Given the description of an element on the screen output the (x, y) to click on. 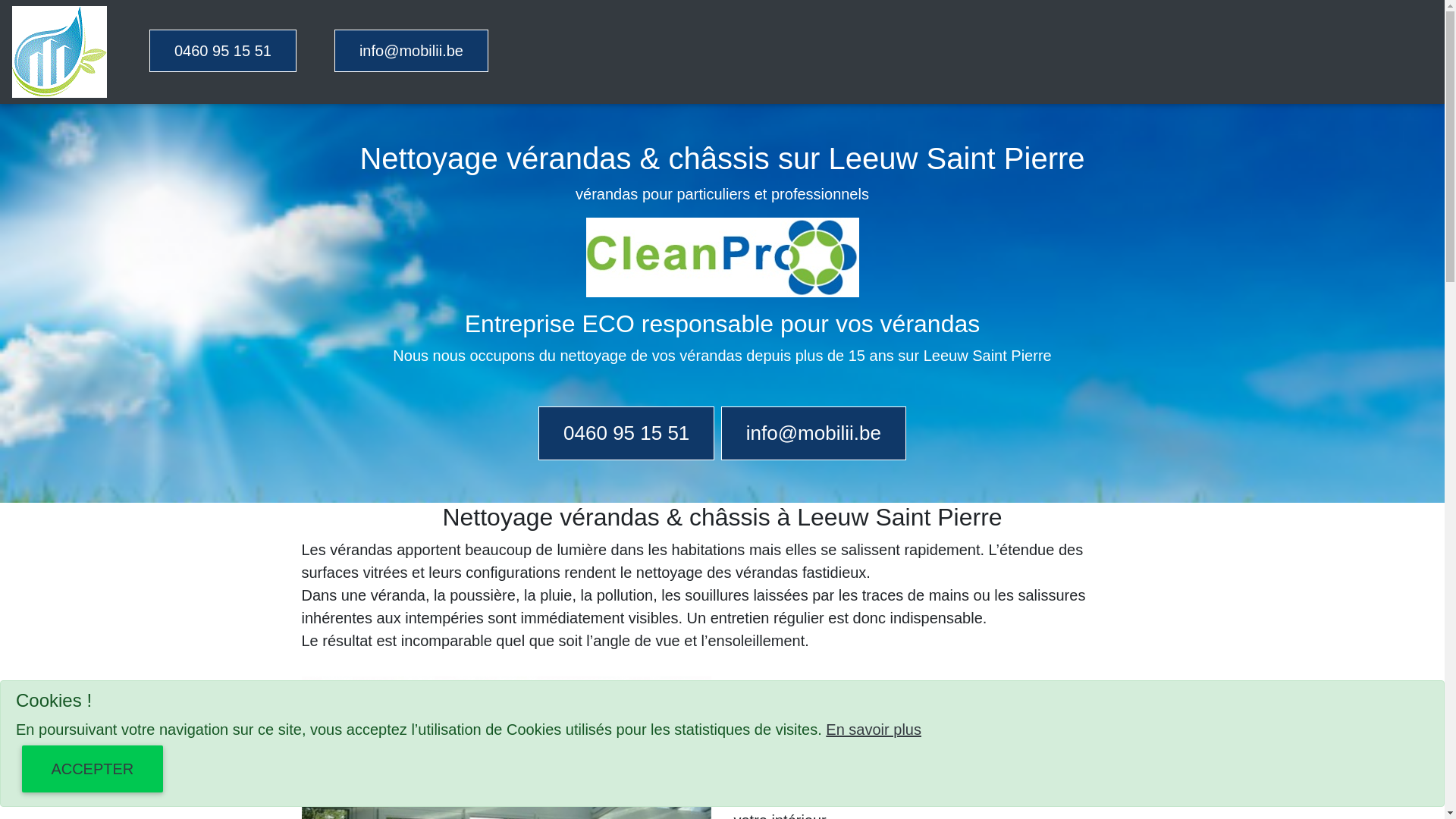
0460 95 15 51 Element type: text (626, 433)
DEMO geo Element type: hover (59, 51)
info@mobilii.be Element type: text (411, 49)
info@mobilii.be Element type: text (813, 433)
En savoir plus Element type: text (873, 729)
ACCEPTER Element type: text (92, 768)
DEMO seo local Element type: hover (721, 257)
